Given the description of an element on the screen output the (x, y) to click on. 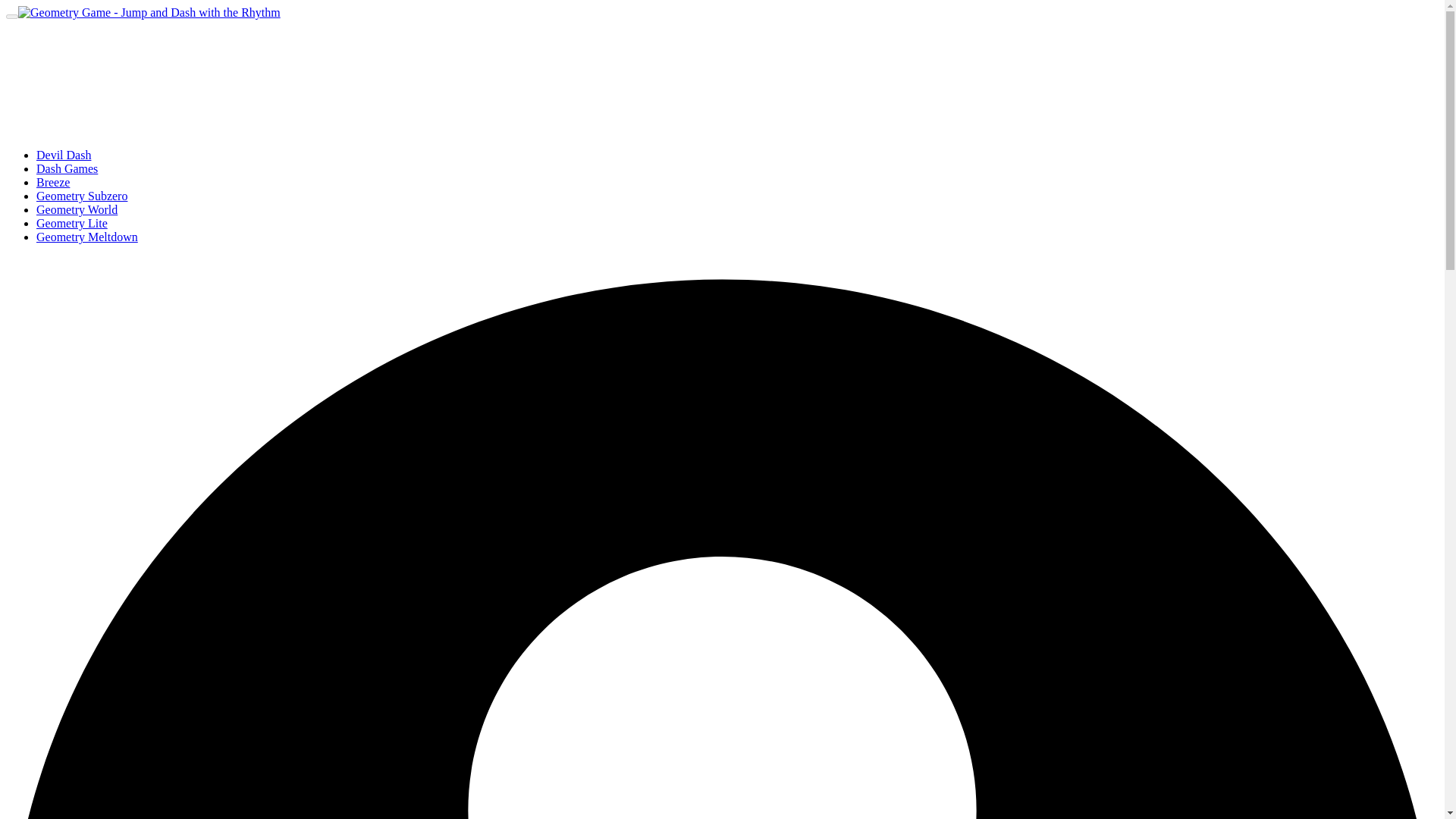
Geometry Subzero (82, 195)
Geometry Subzero (82, 195)
Geometry Game - Jump and Dash with the Rhythm (149, 11)
Devil Dash (63, 154)
Dash Games (66, 168)
Geometry Lite (71, 223)
Breeze (52, 182)
Dash Games (66, 168)
Geometry Meltdown (87, 236)
Geometry World (76, 209)
Geometry Meltdown (87, 236)
Breeze (52, 182)
Geometry World (76, 209)
Devil Dash (63, 154)
Geometry Lite (71, 223)
